Given the description of an element on the screen output the (x, y) to click on. 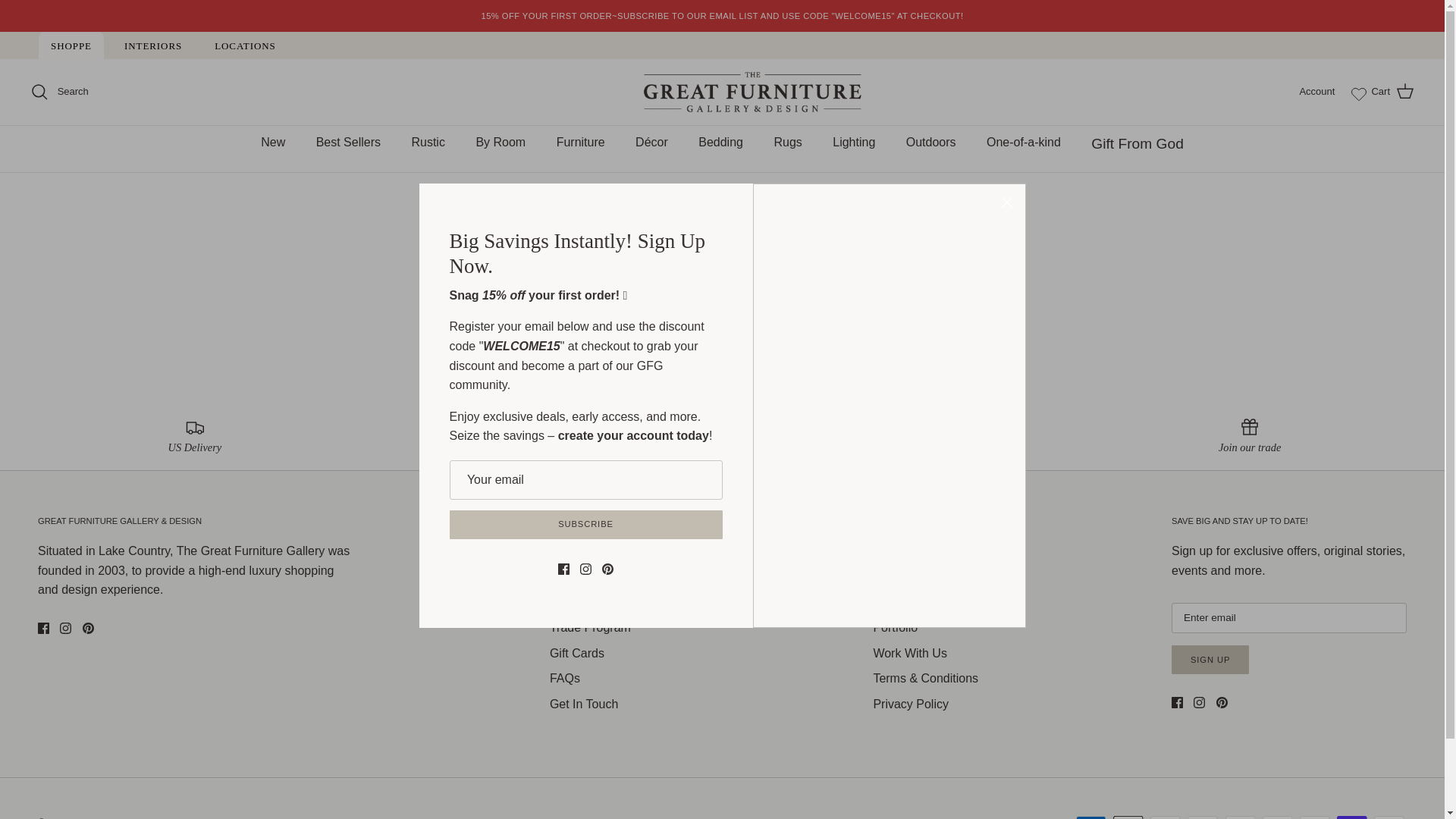
Google Pay (1277, 817)
Cart (1392, 91)
Diners Club (1165, 817)
Pinterest (1221, 702)
SHOPPE (71, 45)
Furniture (580, 142)
Account (1316, 91)
Instagram (1199, 702)
Facebook (43, 627)
Meta Pay (1240, 817)
INTERIORS (152, 45)
Search (59, 91)
Discover (1202, 817)
New (272, 142)
Pinterest (88, 627)
